Given the description of an element on the screen output the (x, y) to click on. 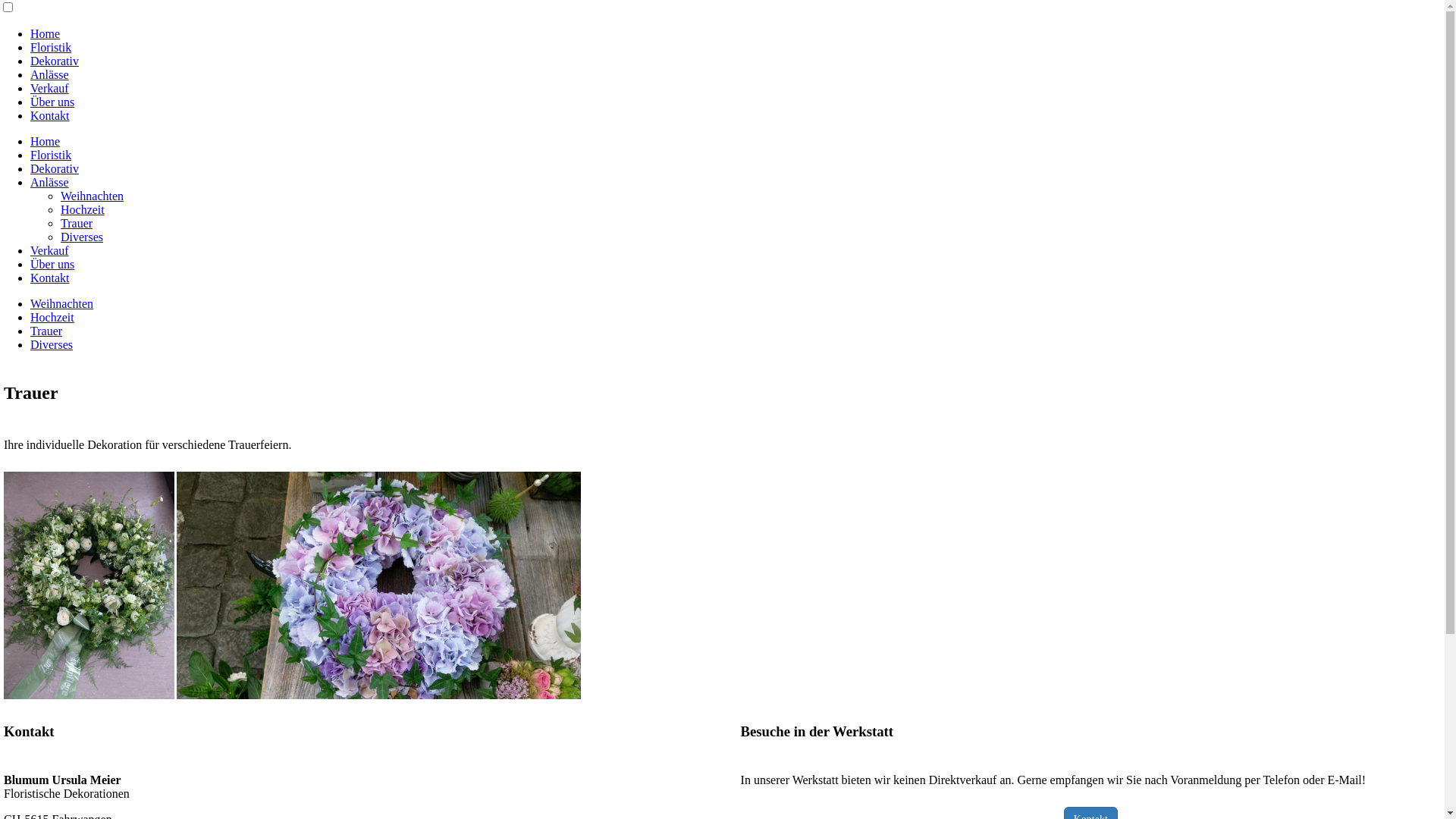
Dekorativ Element type: text (54, 168)
Floristik Element type: text (50, 46)
Hochzeit Element type: text (82, 209)
Verkauf Element type: text (49, 87)
Diverses Element type: text (51, 344)
Kontakt Element type: text (49, 115)
Kontakt Element type: text (49, 277)
Floristik Element type: text (50, 154)
Dekorativ Element type: text (54, 60)
Hochzeit Element type: text (52, 316)
Weihnachten Element type: text (61, 303)
Diverses Element type: text (81, 236)
Home Element type: text (44, 33)
Weihnachten Element type: text (91, 195)
Verkauf Element type: text (49, 250)
Trauer Element type: text (76, 222)
Home Element type: text (44, 140)
Trauer Element type: text (46, 330)
